Given the description of an element on the screen output the (x, y) to click on. 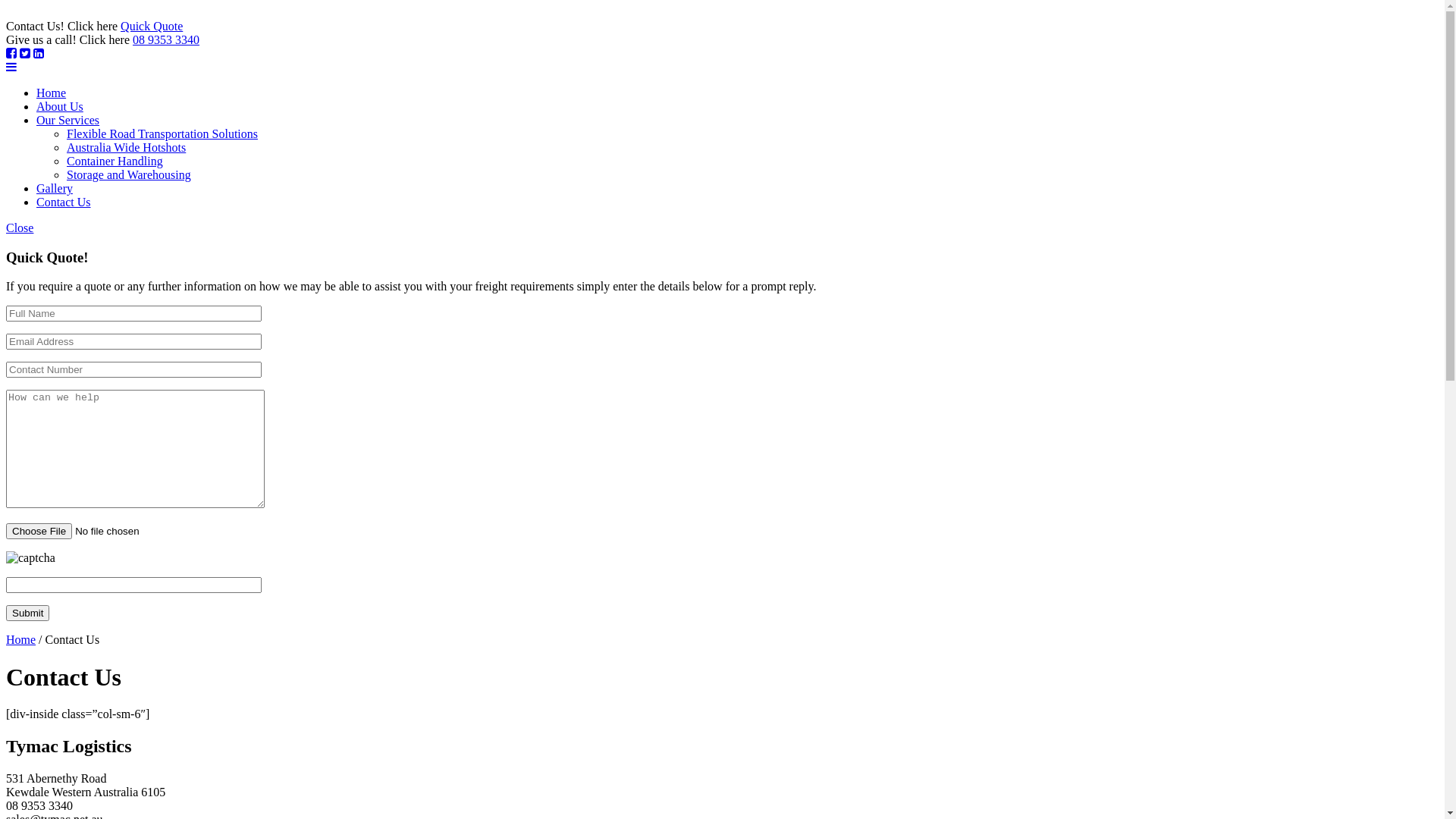
Container Handling Element type: text (114, 160)
Contact Us Element type: text (63, 201)
Gallery Element type: text (54, 188)
Home Element type: text (50, 92)
Flexible Road Transportation Solutions Element type: text (161, 133)
Quick Quote Element type: text (151, 25)
08 9353 3340 Element type: text (165, 39)
Home Element type: text (20, 639)
About Us Element type: text (59, 106)
Close Element type: text (19, 227)
Submit Element type: text (27, 613)
Australia Wide Hotshots Element type: text (125, 147)
Our Services Element type: text (67, 119)
Storage and Warehousing Element type: text (128, 174)
